Given the description of an element on the screen output the (x, y) to click on. 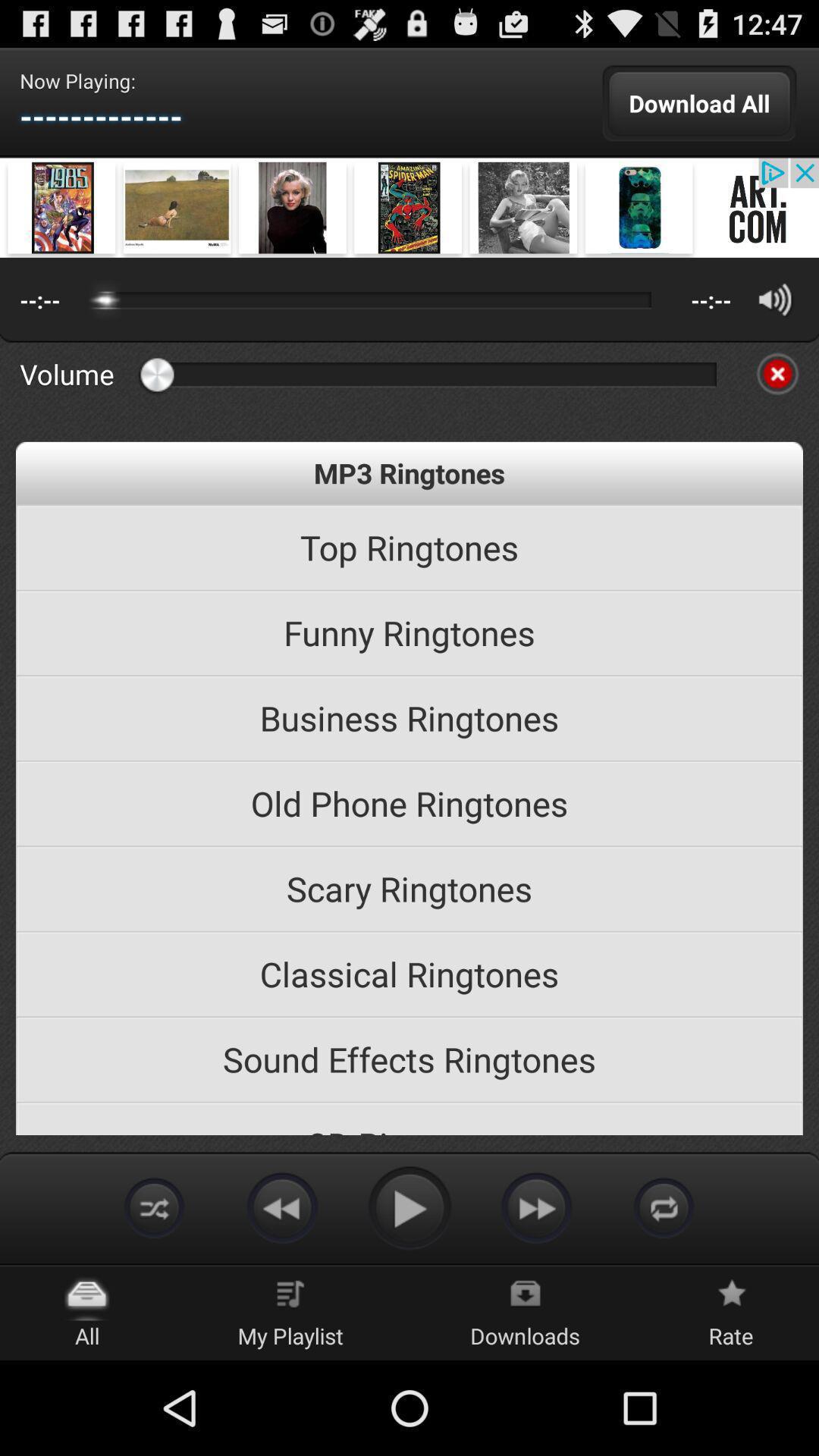
volumn increase (775, 299)
